Given the description of an element on the screen output the (x, y) to click on. 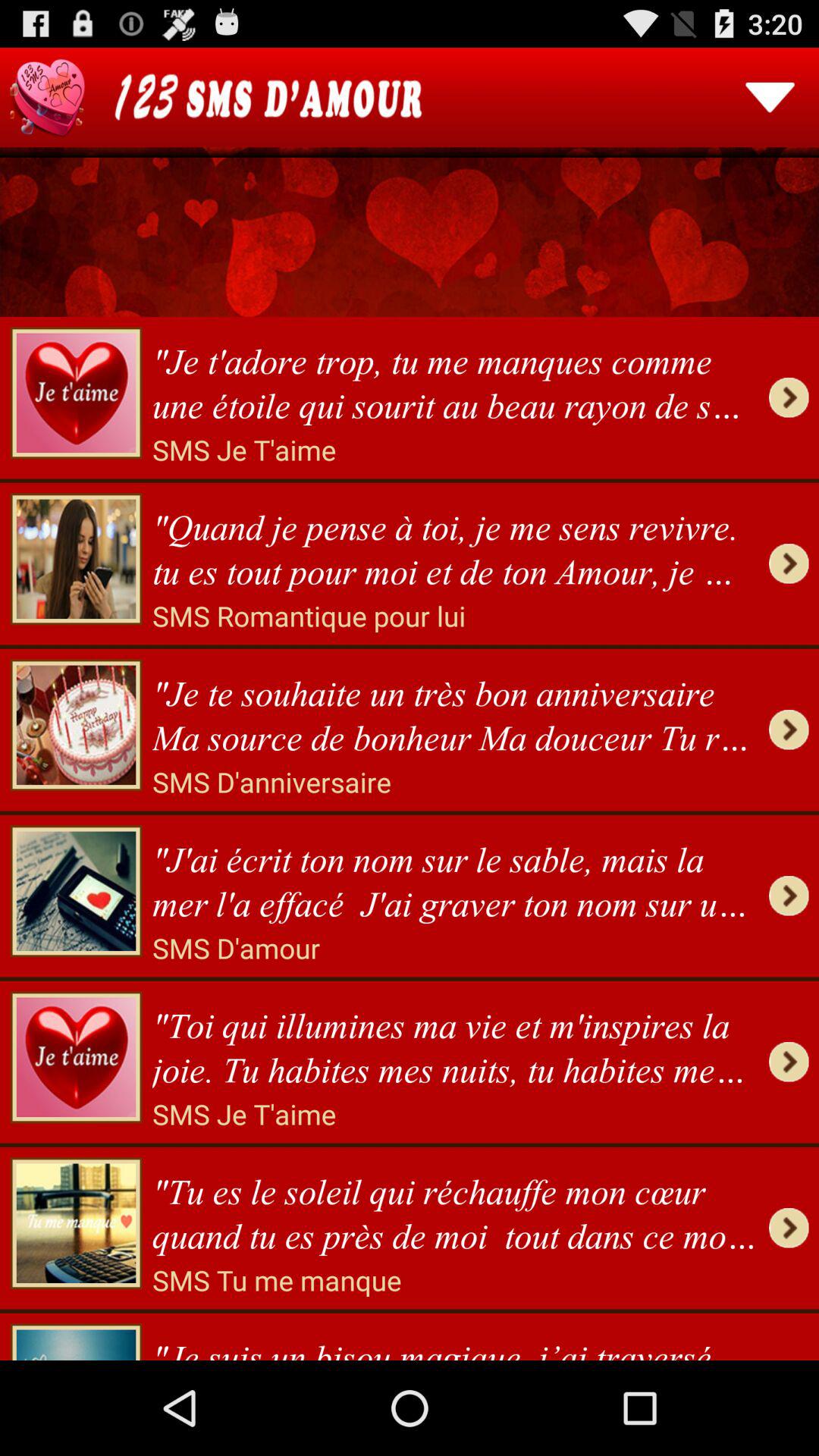
select app below the sms je t item (455, 545)
